Given the description of an element on the screen output the (x, y) to click on. 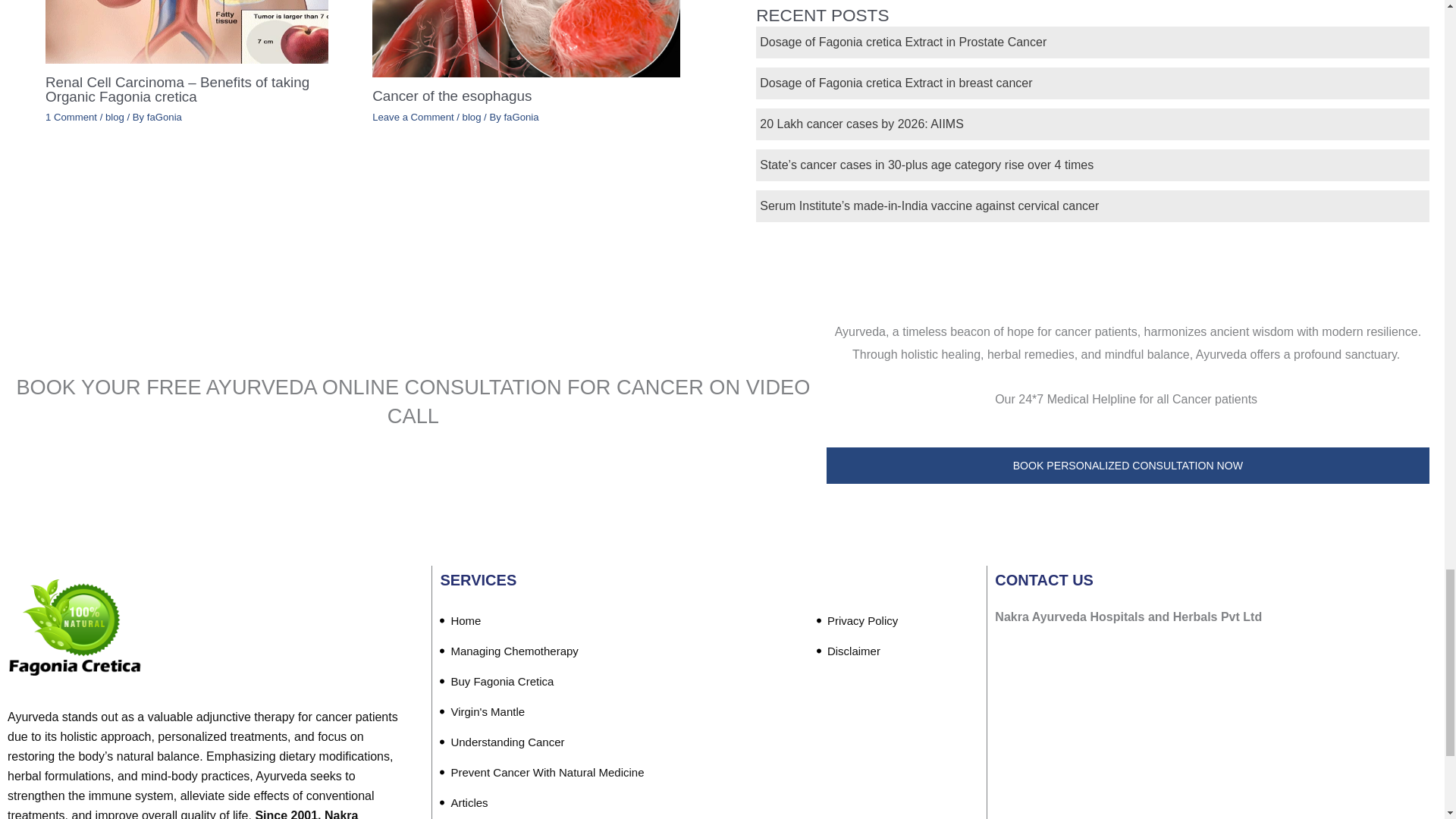
BOOK PERSONALIZED CONSULTATION NOW (1128, 465)
faGonia (164, 116)
Virgin's Mantle (481, 711)
1 Comment (71, 116)
Nakra Ayurveda Hospitals and Herbals Pvt Ltd (1212, 742)
Privacy Policy (857, 621)
Prevent Cancer With Natural Medicine (541, 772)
faGonia (520, 116)
Understanding Cancer (501, 742)
Home (459, 621)
